Given the description of an element on the screen output the (x, y) to click on. 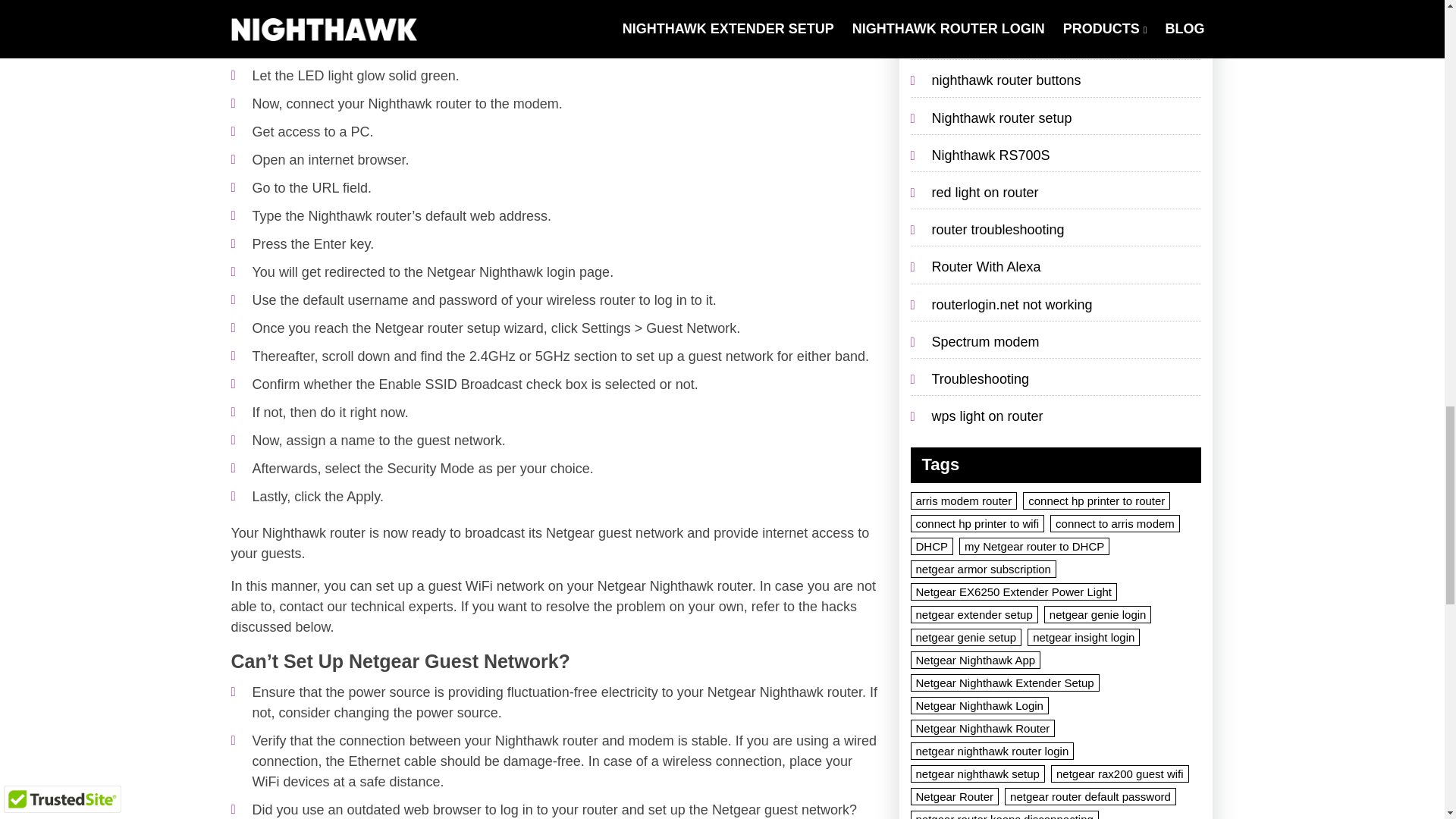
Netgear guest network (294, 524)
routerlogin (398, 524)
